Given the description of an element on the screen output the (x, y) to click on. 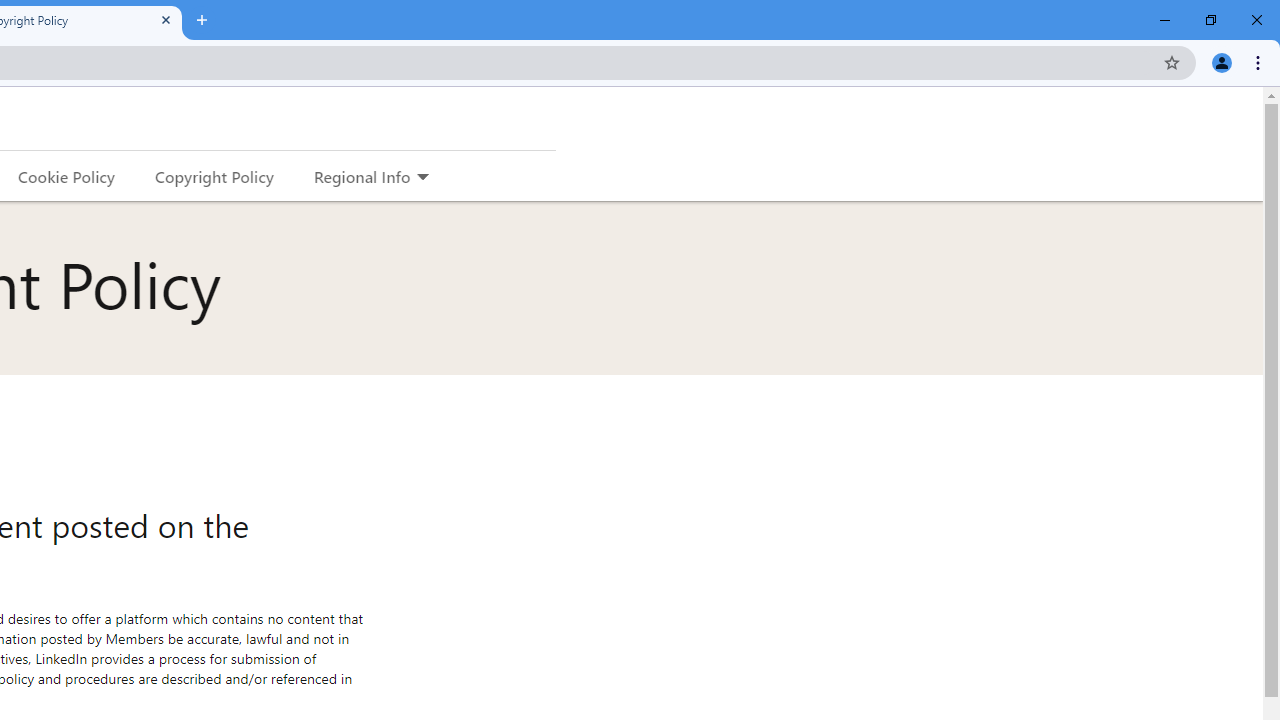
Cookie Policy (66, 176)
Expand to show more links for Regional Info (422, 178)
Copyright Policy (213, 176)
Regional Info (361, 176)
